Given the description of an element on the screen output the (x, y) to click on. 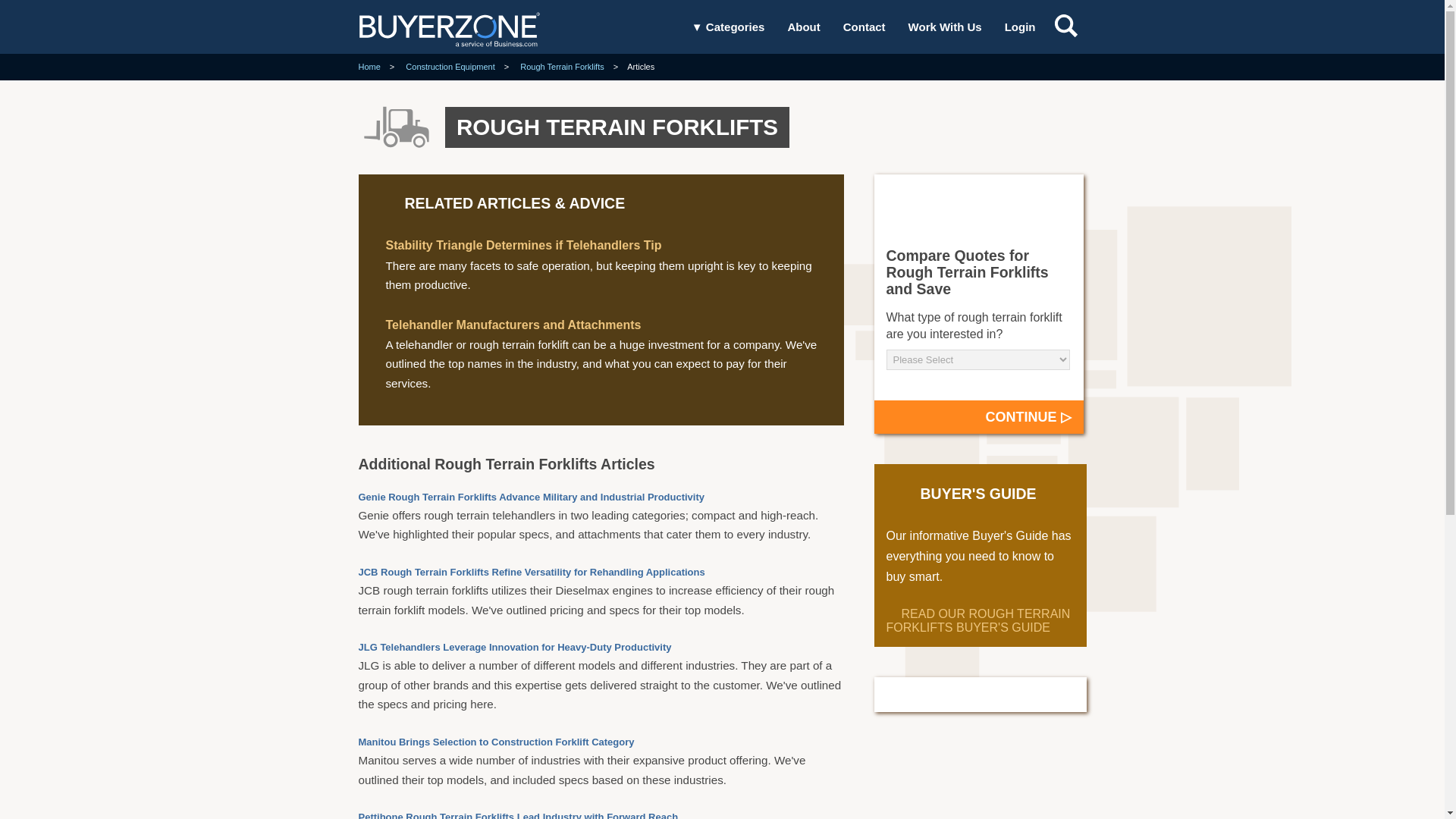
Construction Equipment (450, 66)
Telehandler Manufacturers and Attachments (512, 324)
Rough Terrain Forklifts (561, 66)
CONTINUE (978, 417)
Contact (864, 26)
Login (1019, 26)
Work With Us (944, 26)
Home (369, 66)
Search (1036, 97)
Stability Triangle Determines if Telehandlers Tip (523, 245)
Manitou Brings Selection to Construction Forklift Category (495, 741)
